Given the description of an element on the screen output the (x, y) to click on. 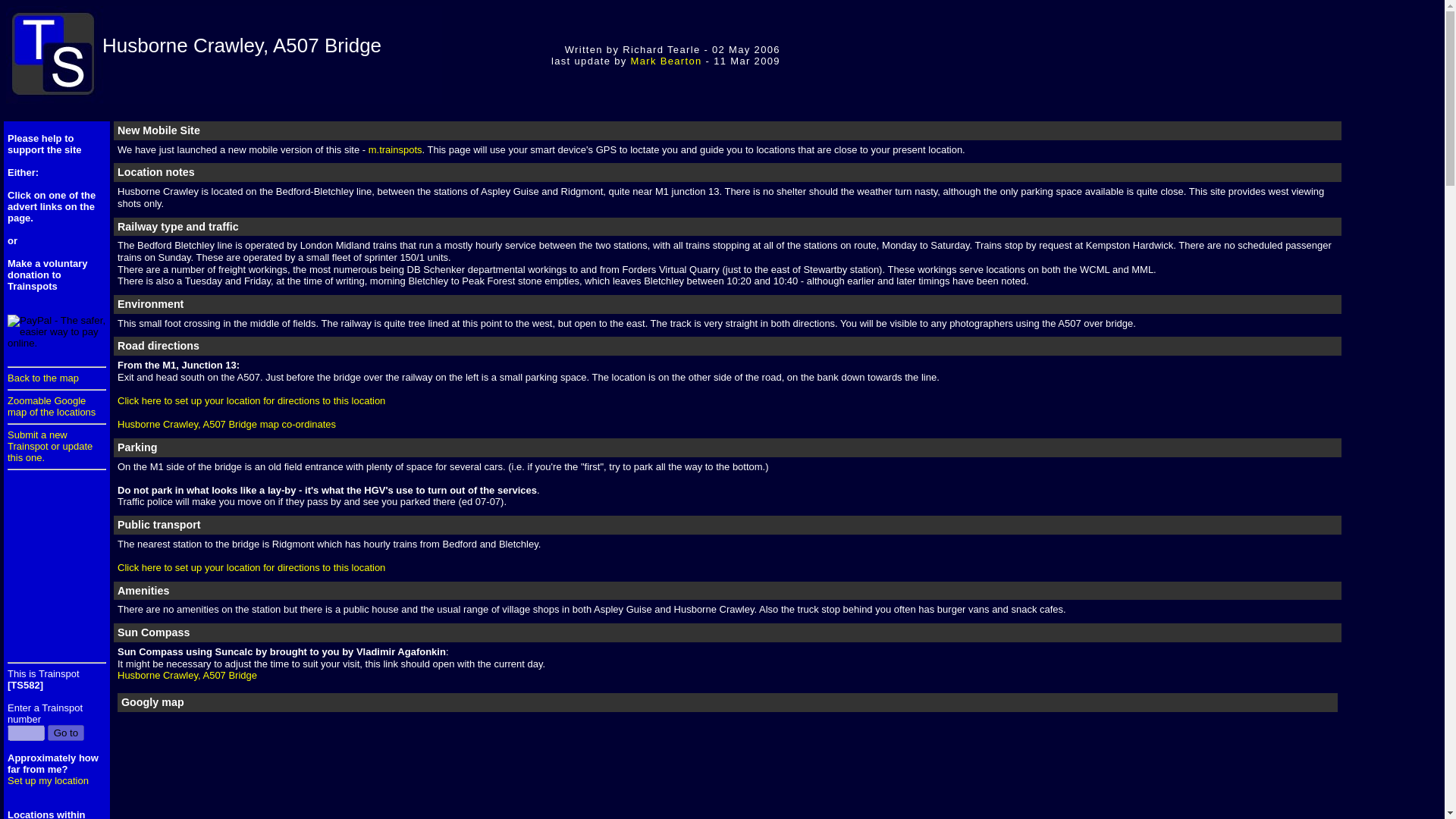
Set up my location (47, 780)
Mark Bearton (665, 60)
Submit a new Trainspot or update this one. (50, 446)
Back to the map (42, 378)
Husborne Crawley, A507 Bridge (187, 674)
Go to (66, 732)
Husborne Crawley, A507 Bridge map co-ordinates (226, 423)
Go to (66, 732)
Zoomable Google map of the locations (51, 405)
m.trainspots (395, 149)
